Given the description of an element on the screen output the (x, y) to click on. 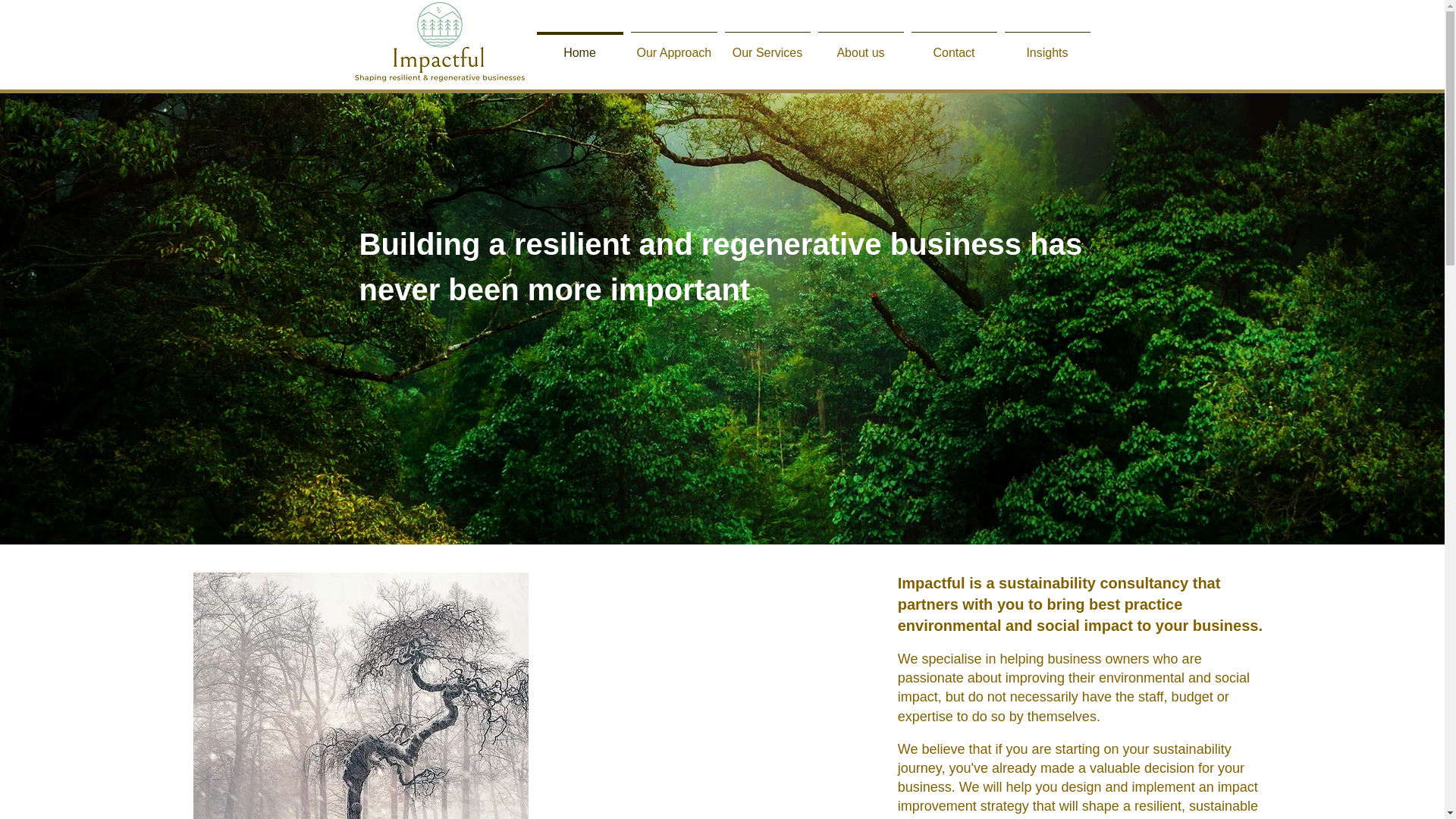
About us (860, 45)
Home (579, 45)
Insights (1047, 45)
Our Approach (673, 45)
Our Services (766, 45)
Contact (953, 45)
